Given the description of an element on the screen output the (x, y) to click on. 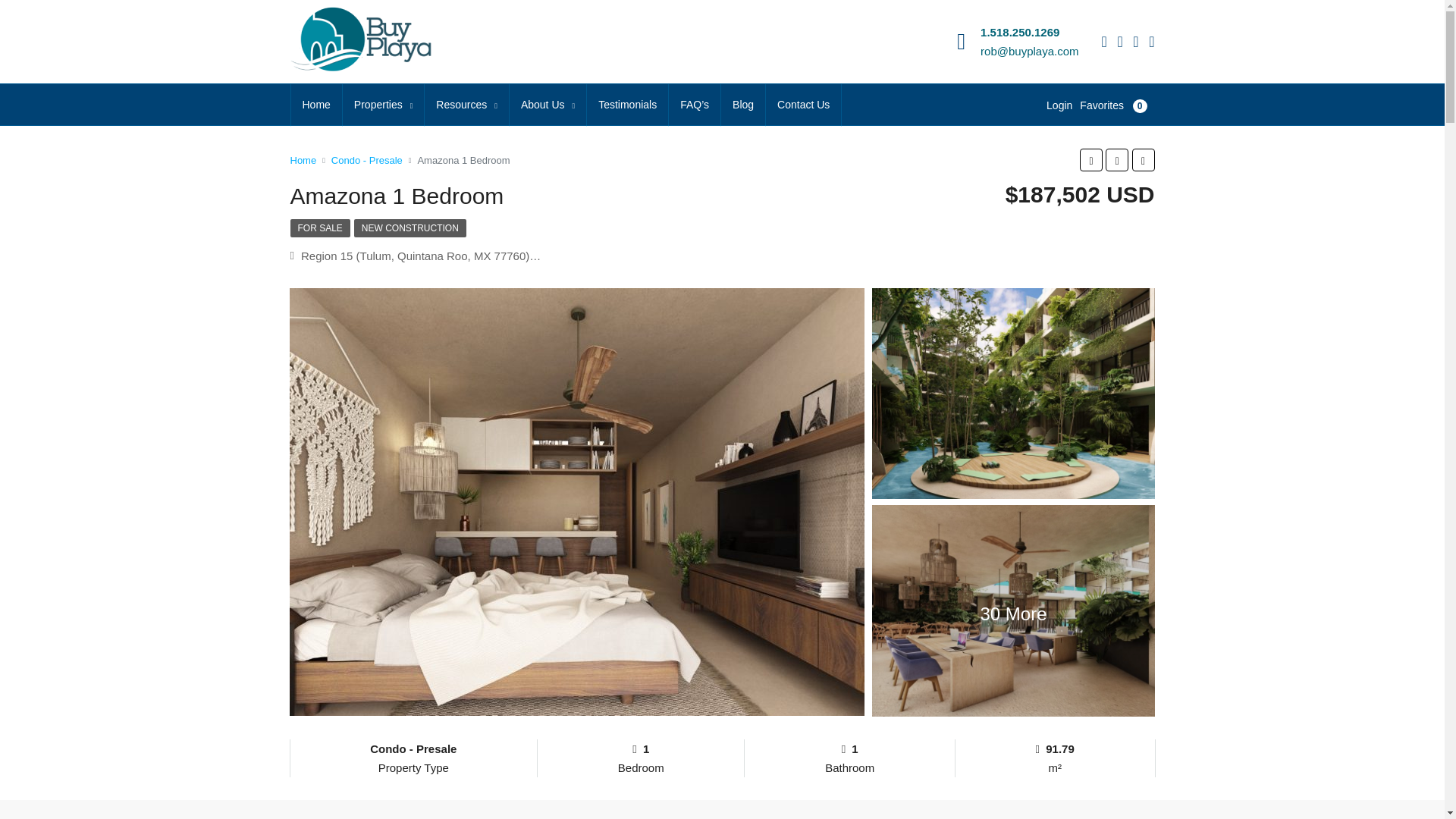
Resources (466, 105)
Home (316, 104)
1.518.250.1269 (1019, 31)
Properties (382, 105)
